Given the description of an element on the screen output the (x, y) to click on. 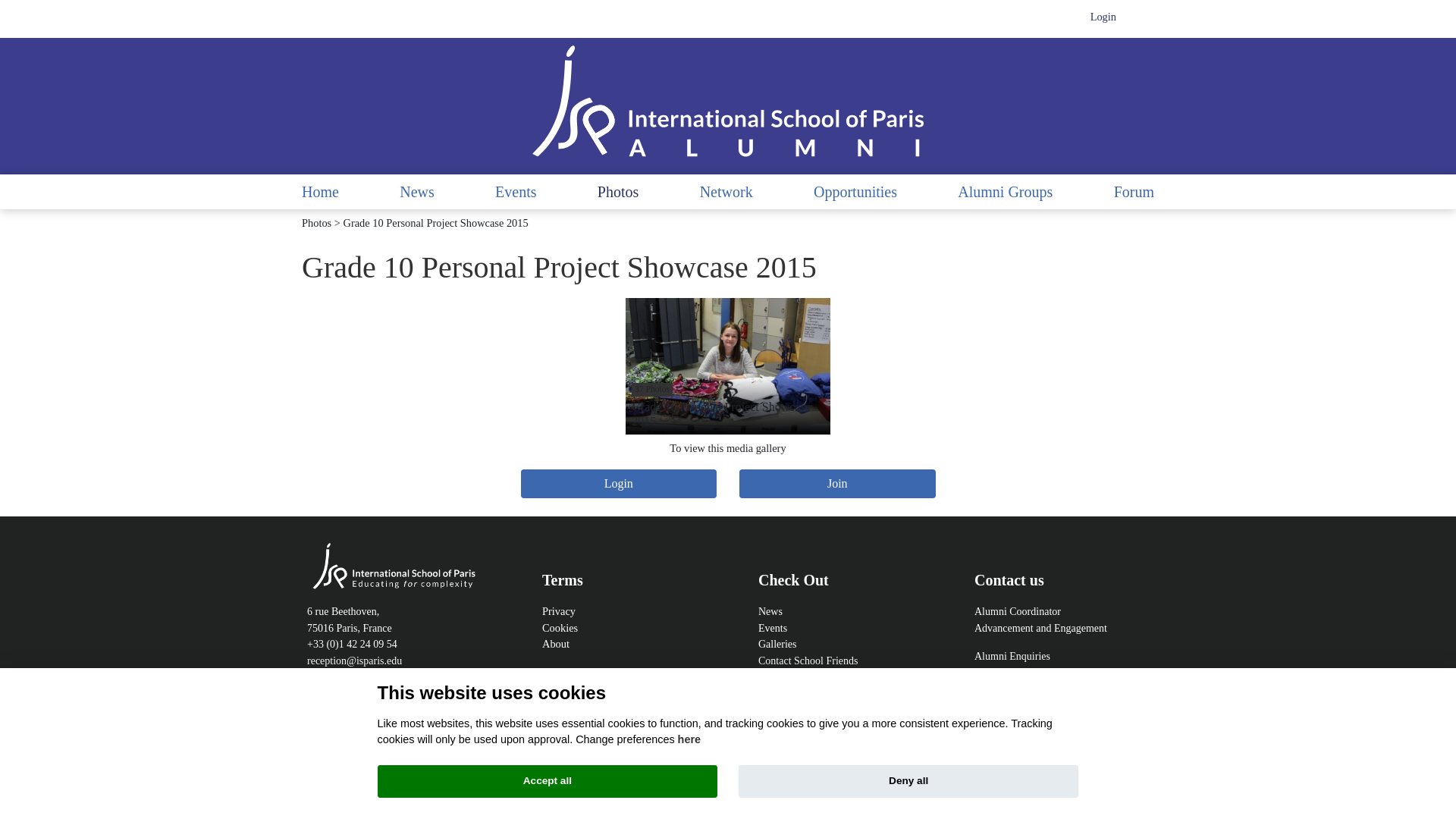
Contact School Friends (807, 660)
Privacy (558, 611)
Cookies (559, 627)
Alumni Groups (1005, 191)
About (555, 644)
Alumni Enquiries (1011, 655)
Home (320, 191)
Galleries (777, 652)
News (770, 611)
Events (515, 191)
Alumni Coordinator (1017, 611)
News (415, 191)
Network (726, 191)
Grade 10 Personal Project Showcase 2015 (726, 365)
Advancement and Engagement (1040, 636)
